Given the description of an element on the screen output the (x, y) to click on. 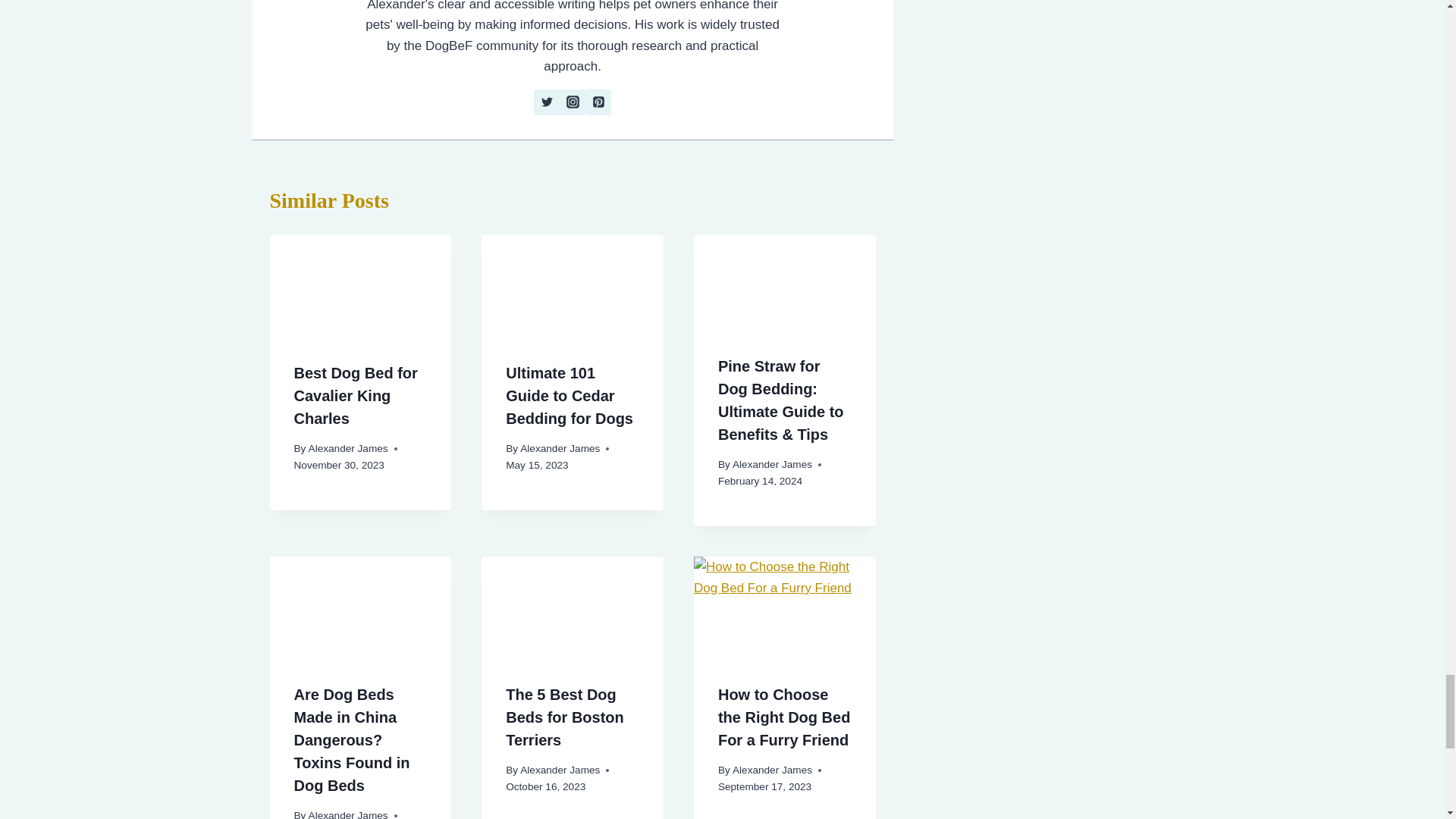
Follow Alexander James on Instagram (572, 102)
Follow Alexander James on Pinterest (598, 102)
Follow Alexander James on Twitter (546, 102)
